Given the description of an element on the screen output the (x, y) to click on. 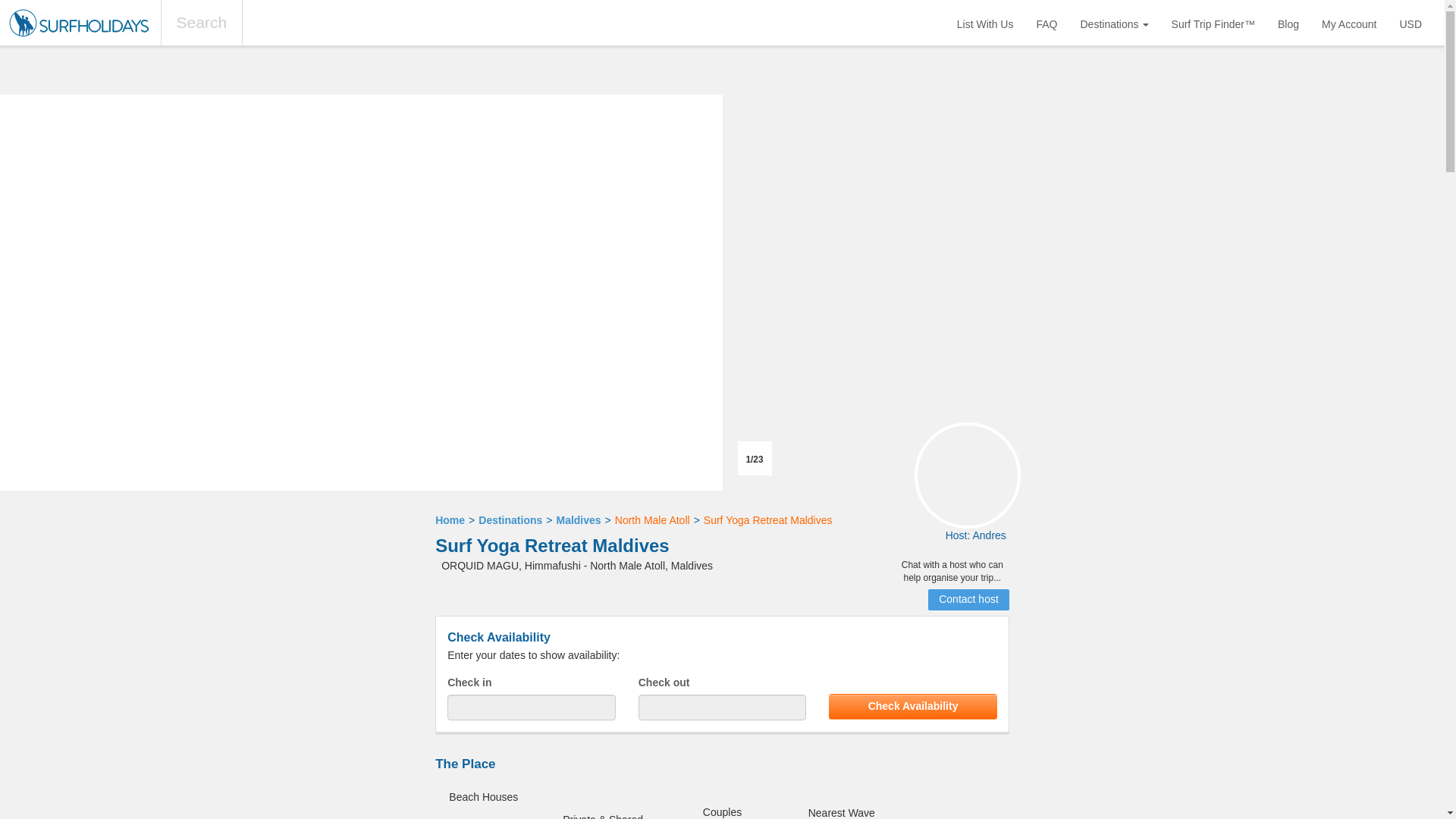
FAQ (1046, 22)
Search (201, 22)
Destinations (1114, 22)
Check Availability (912, 706)
List With Us (984, 22)
